Given the description of an element on the screen output the (x, y) to click on. 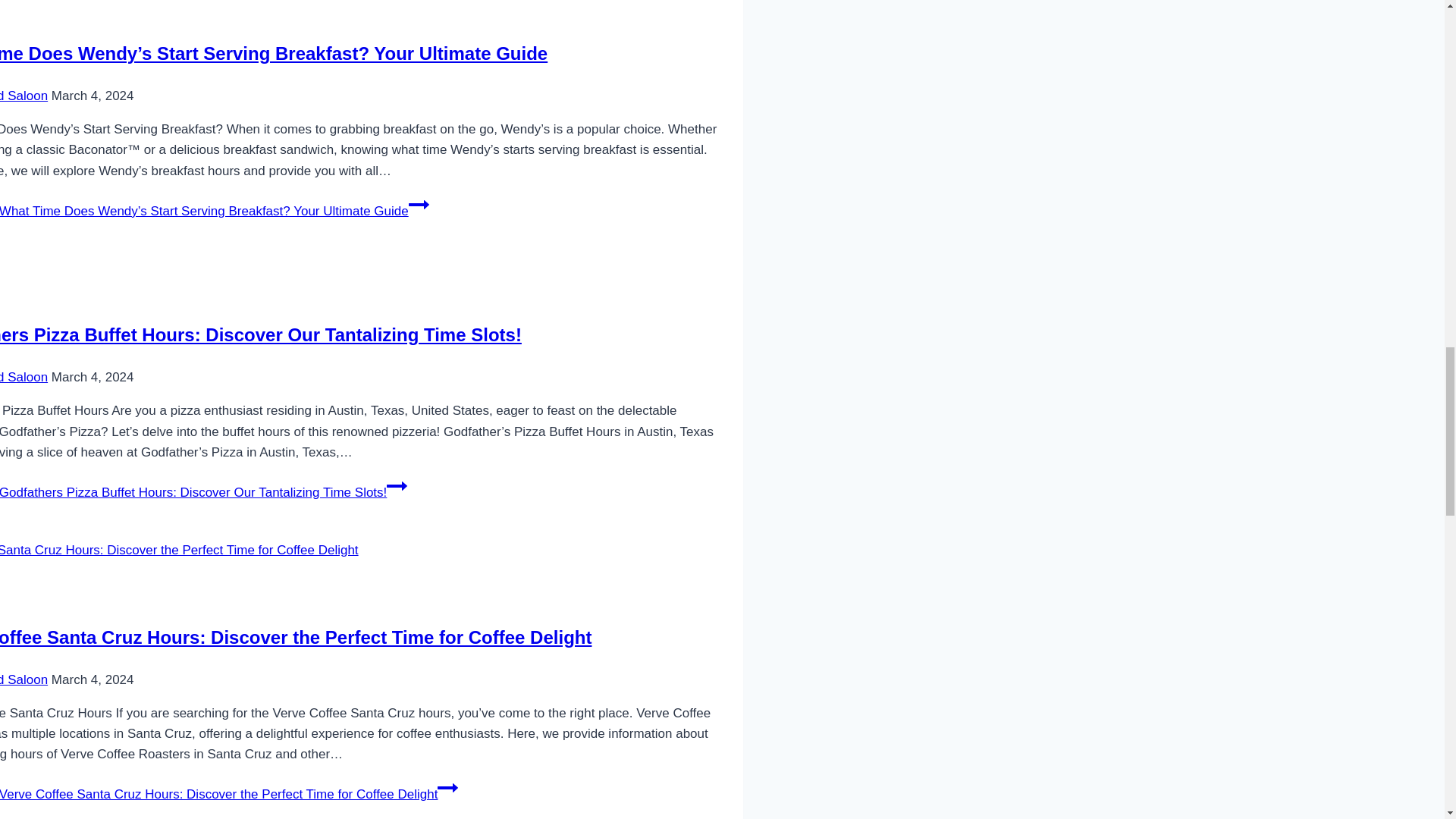
Continue (419, 204)
Continue (397, 485)
Buckhead Saloon (24, 95)
Buckhead Saloon (24, 678)
Continue (448, 787)
Buckhead Saloon (24, 377)
